Given the description of an element on the screen output the (x, y) to click on. 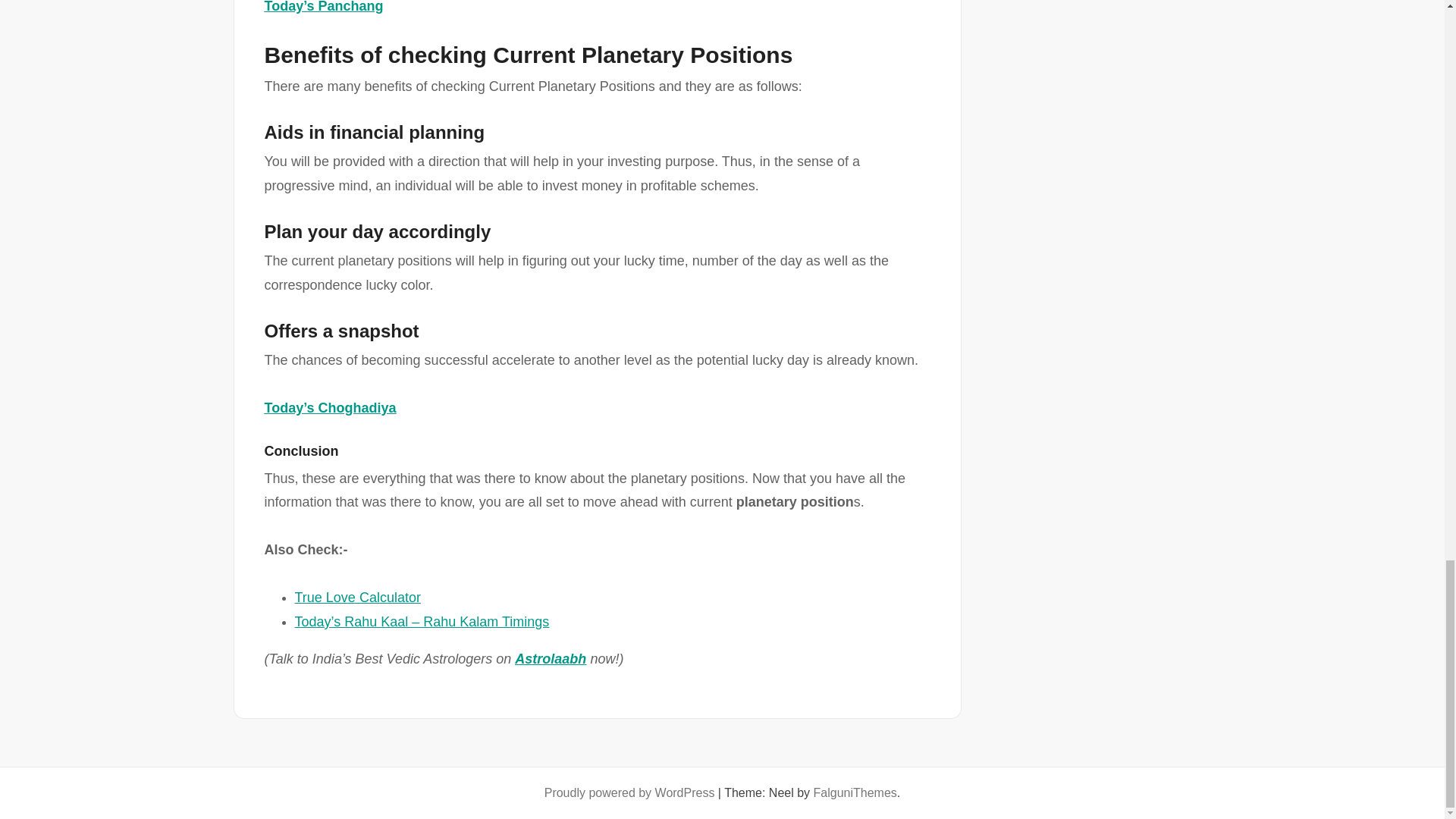
True Love Calculator (357, 597)
Astrolaabh (550, 658)
